Given the description of an element on the screen output the (x, y) to click on. 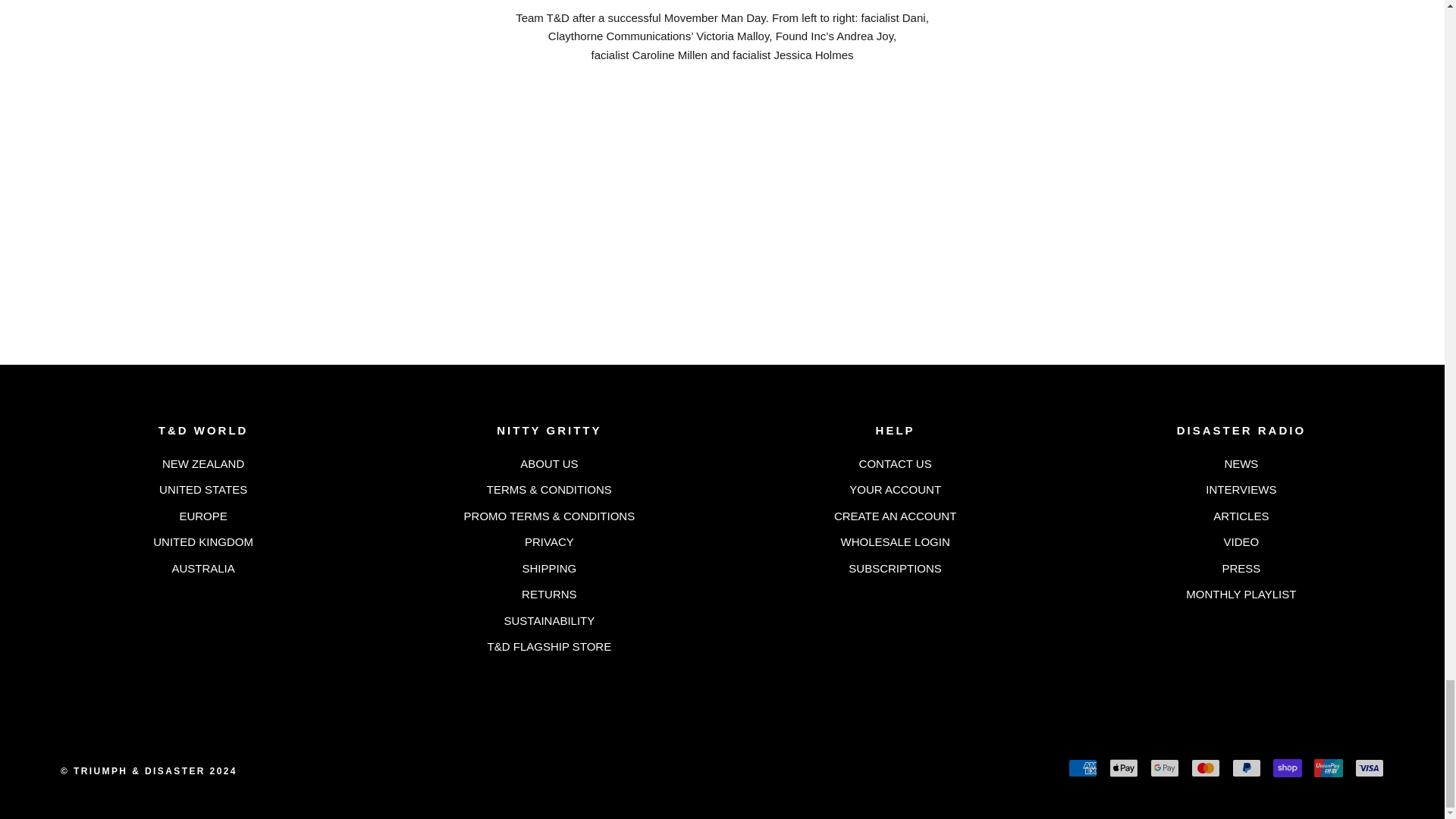
Union Pay (1328, 768)
Mastercard (1205, 768)
Shop Pay (1286, 768)
Google Pay (1164, 768)
PayPal (1245, 768)
Apple Pay (1123, 768)
American Express (1082, 768)
Visa (1369, 768)
